Given the description of an element on the screen output the (x, y) to click on. 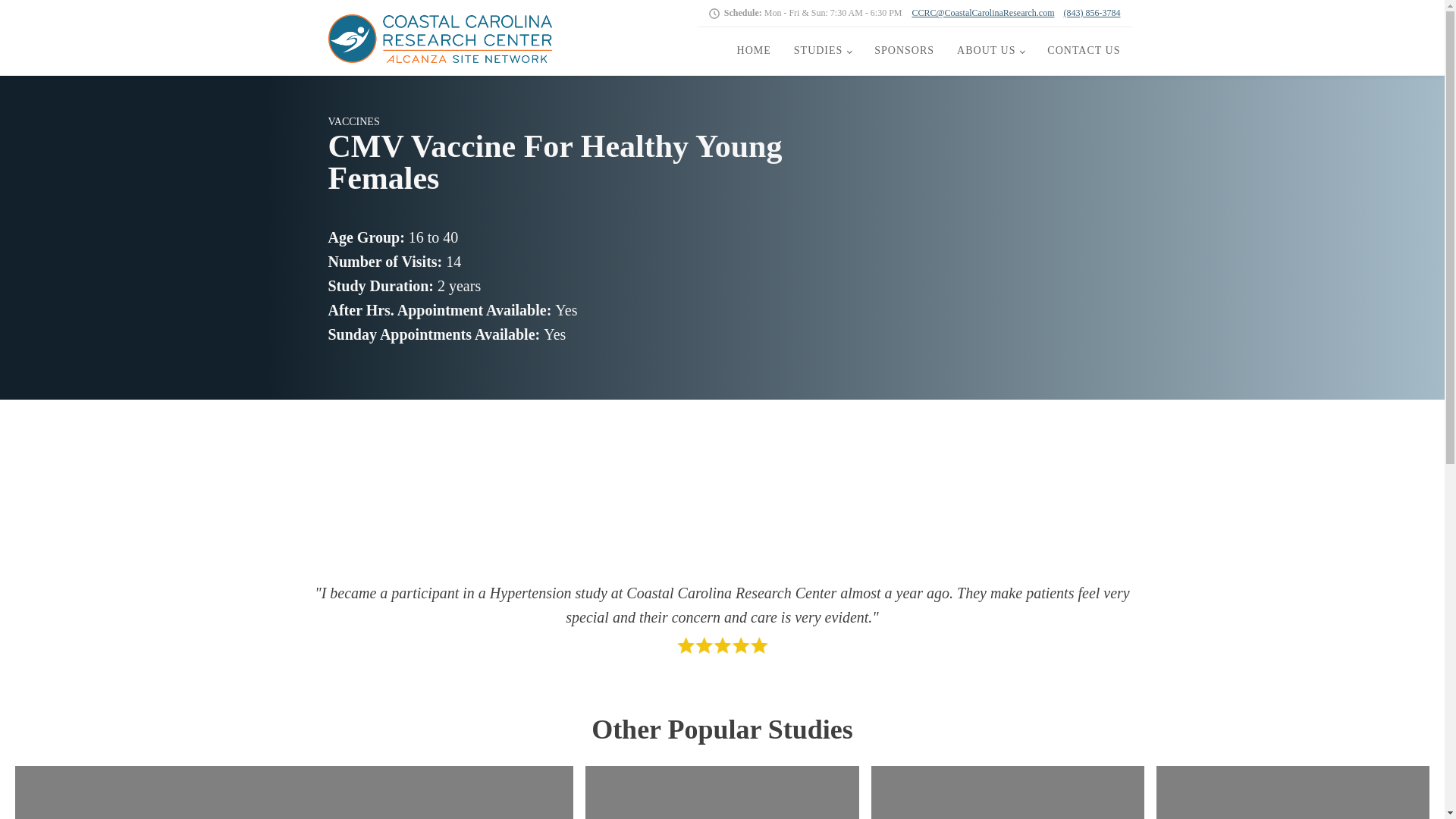
SPONSORS (903, 50)
CONTACT US (1083, 50)
STUDIES (823, 50)
Flu Vaccine in Healthy Volunteers (1007, 816)
Migraine Prevention with Botox (1292, 816)
ABOUT US (989, 50)
HOME (754, 50)
